Given the description of an element on the screen output the (x, y) to click on. 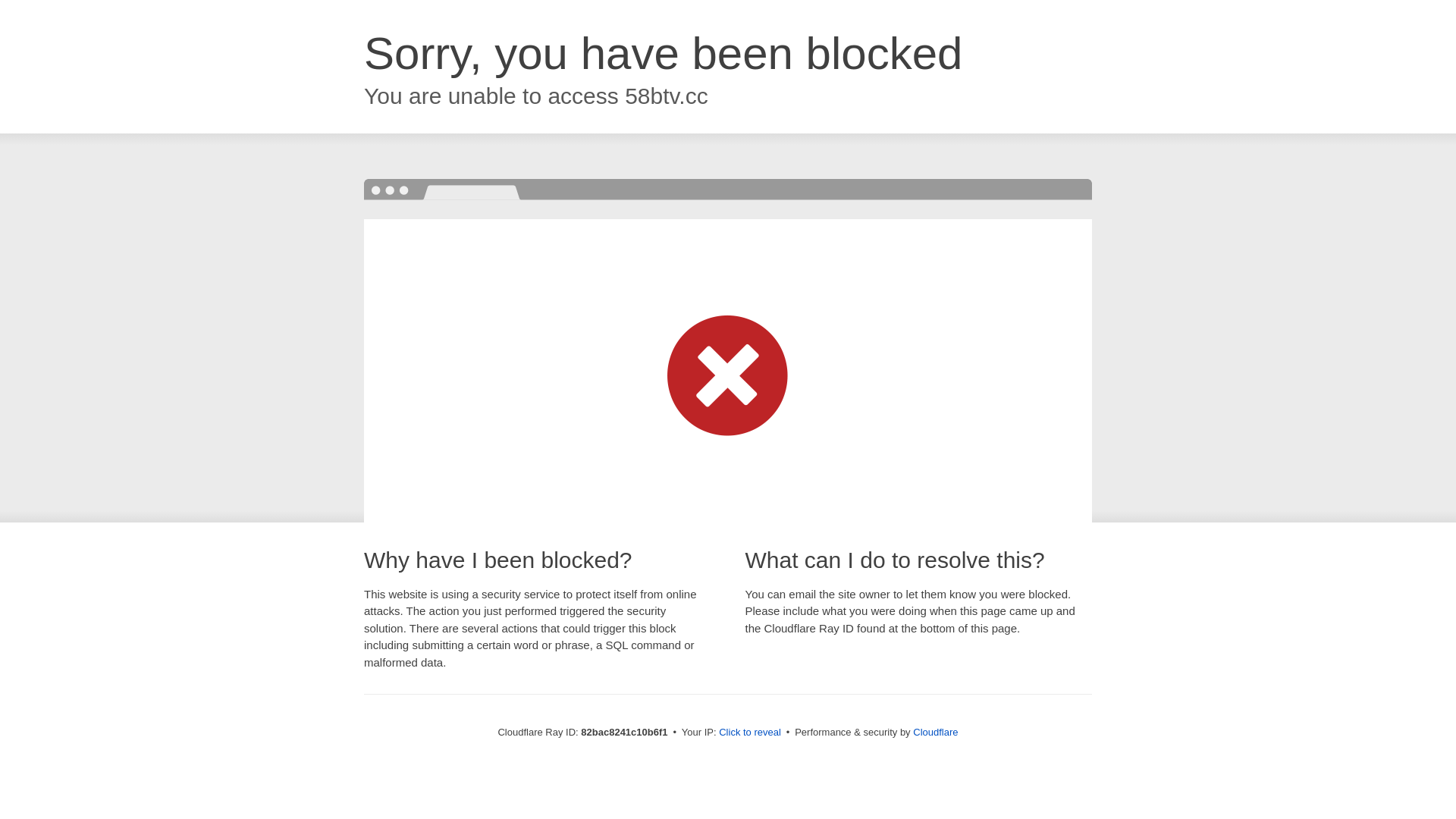
Click to reveal Element type: text (749, 732)
Cloudflare Element type: text (935, 731)
